Given the description of an element on the screen output the (x, y) to click on. 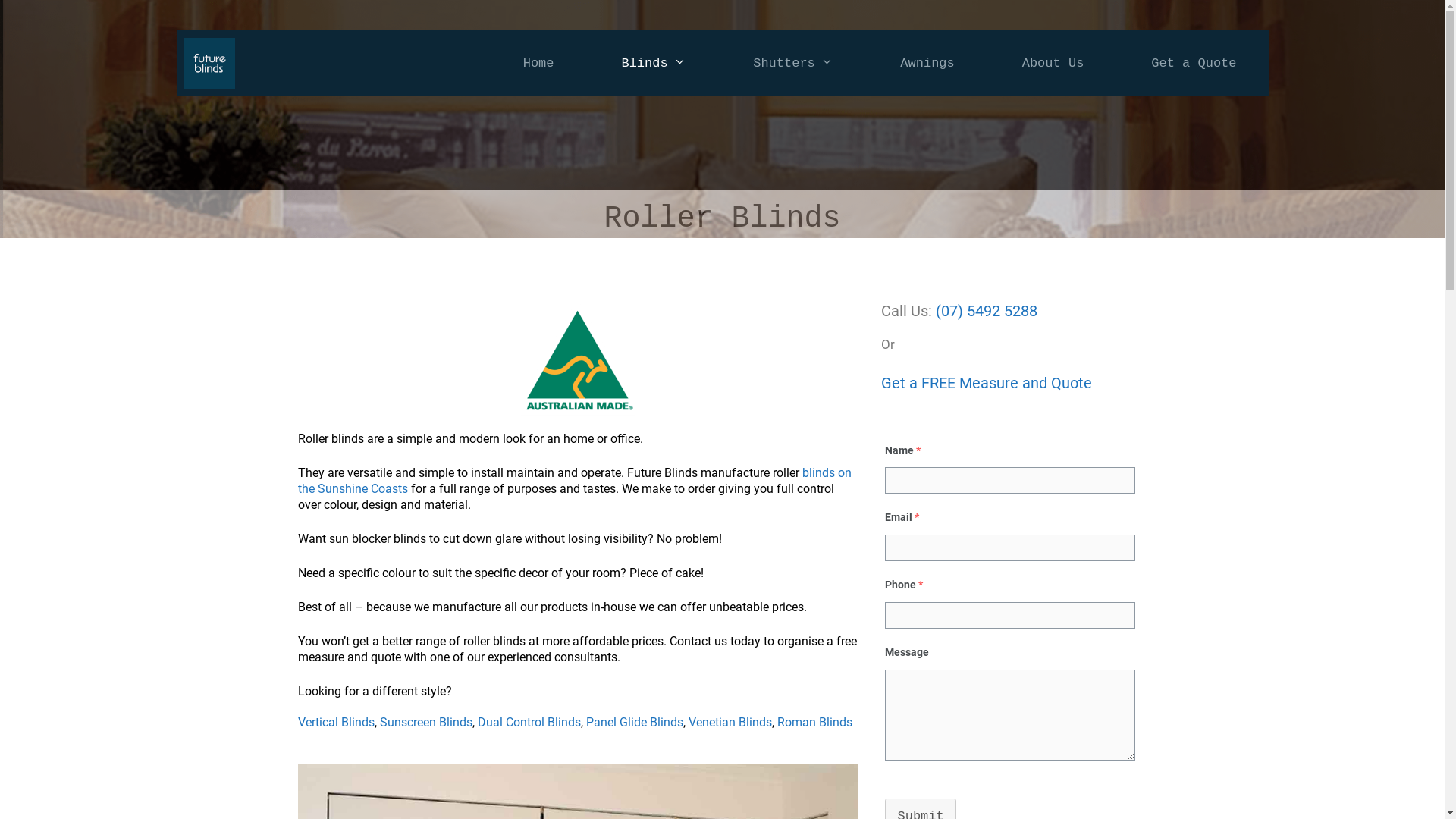
About Us Element type: text (1053, 63)
Sunscreen Blinds Element type: text (425, 722)
Home Element type: text (538, 63)
Dual Control Blinds Element type: text (528, 722)
Get a FREE Measure and Quote Element type: text (986, 382)
Shutters Element type: text (792, 63)
blinds on the Sunshine Coasts Element type: text (573, 480)
Blinds Element type: text (653, 63)
Vertical Blinds Element type: text (335, 722)
Future Blinds Element type: hover (208, 63)
Panel Glide Blinds Element type: text (633, 722)
Roman Blinds Element type: text (813, 722)
Awnings Element type: text (926, 63)
Future Blinds Element type: hover (212, 63)
Venetian Blinds Element type: text (729, 722)
Get a Quote Element type: text (1193, 63)
(07) 5492 5288 Element type: text (986, 310)
